Given the description of an element on the screen output the (x, y) to click on. 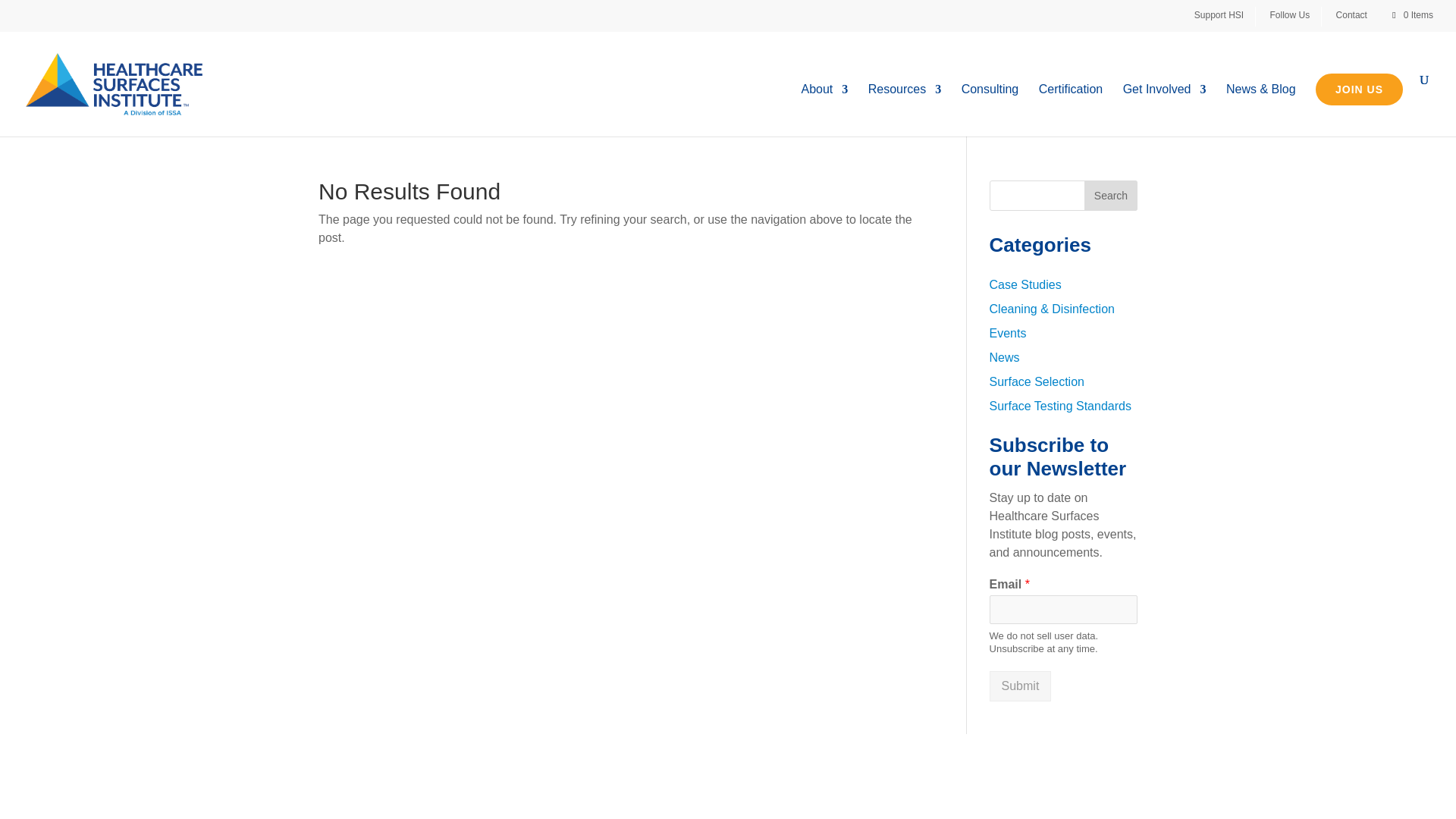
Contact (1357, 16)
Consulting (989, 110)
Resources (903, 110)
Certification (1070, 110)
JOIN US (1358, 89)
Get Involved (1164, 110)
Support HSI (1224, 16)
0 Items (1411, 14)
Follow Us (1295, 16)
About (823, 110)
Search (1110, 195)
